Given the description of an element on the screen output the (x, y) to click on. 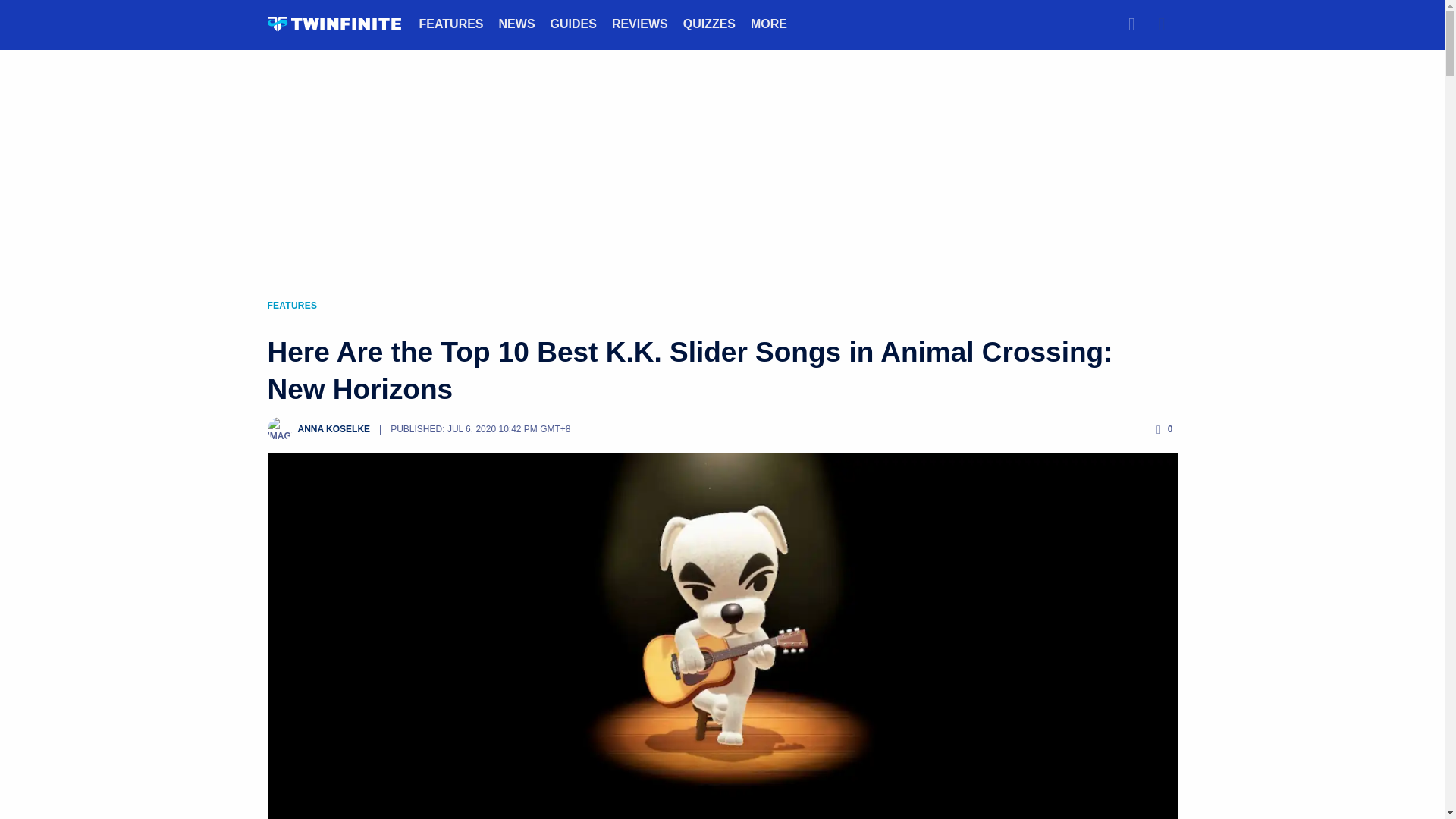
REVIEWS (639, 23)
FEATURES (451, 23)
NEWS (517, 23)
Dark Mode (1161, 24)
GUIDES (573, 23)
QUIZZES (708, 23)
Search (1131, 24)
